Given the description of an element on the screen output the (x, y) to click on. 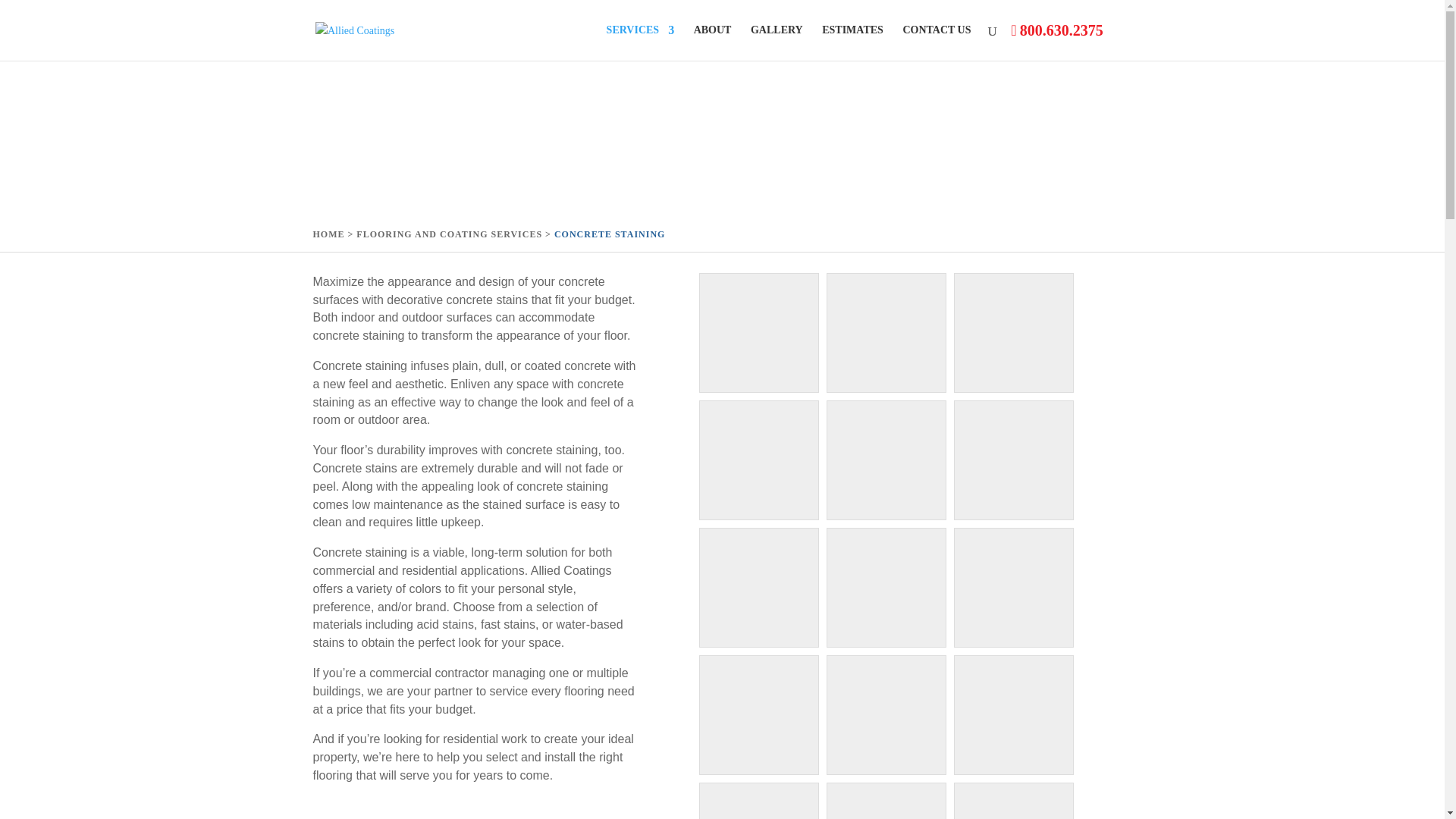
CONTACT US (936, 42)
HOME (328, 234)
800.630.2375 (1061, 30)
GALLERY (777, 42)
ESTIMATES (852, 42)
SERVICES (641, 42)
ABOUT (713, 42)
FLOORING AND COATING SERVICES (448, 234)
